Given the description of an element on the screen output the (x, y) to click on. 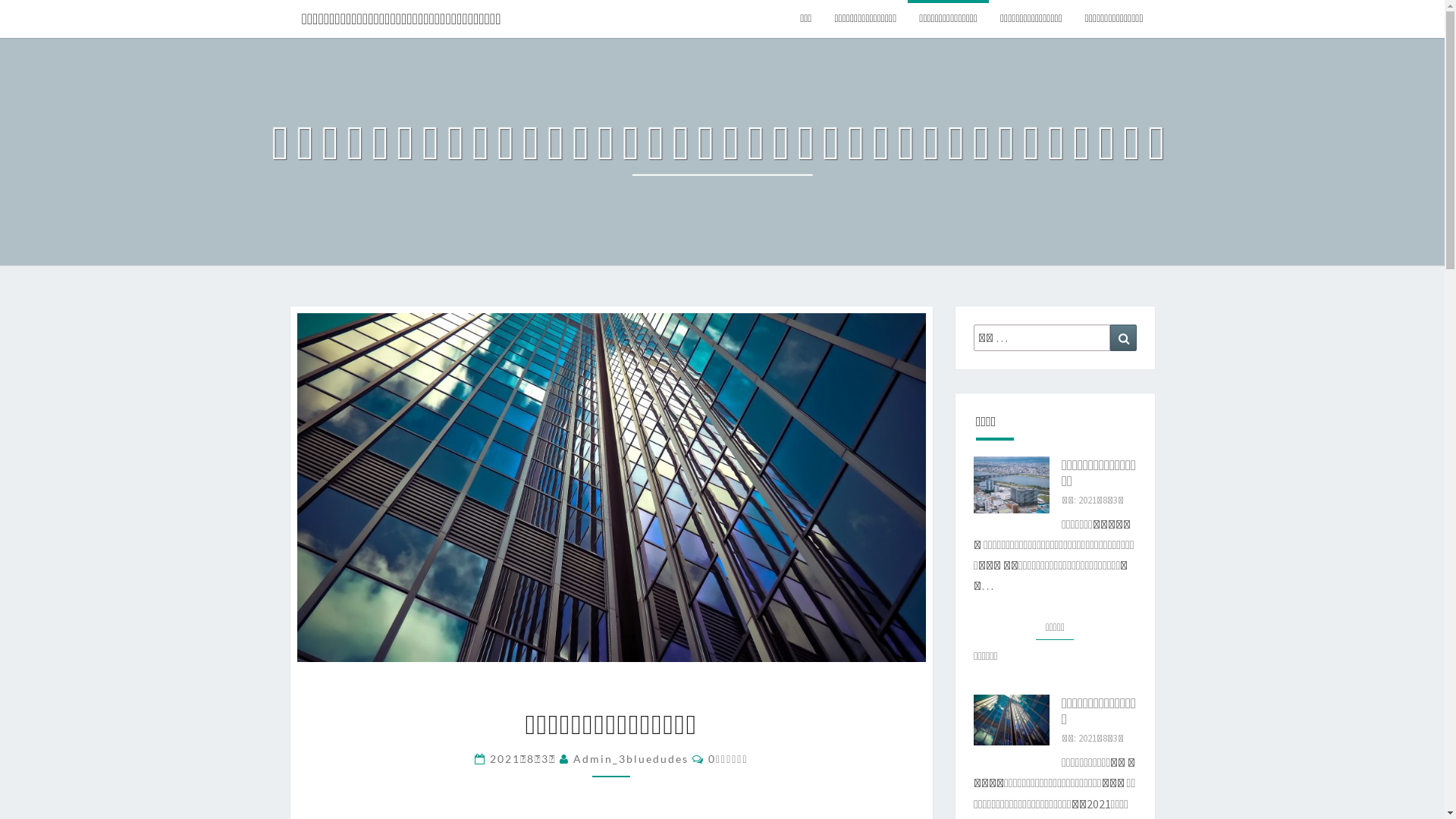
Admin_3bluedudes Element type: text (630, 758)
